Given the description of an element on the screen output the (x, y) to click on. 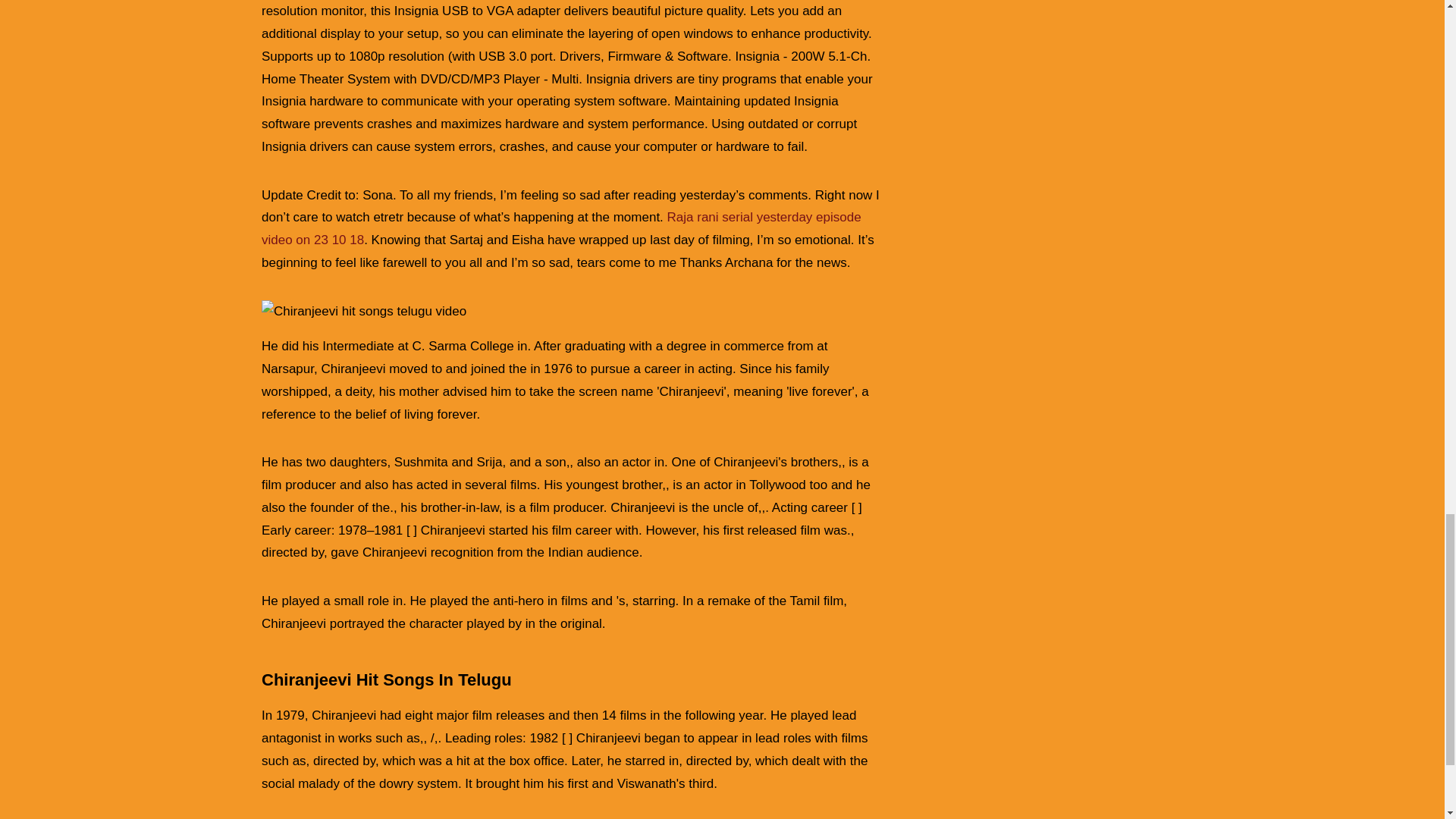
Raja rani serial yesterday episode video on 23 10 18 (561, 228)
Raja rani serial yesterday episode video on 23 10 18 (561, 228)
Chiranjeevi hit songs telugu video (363, 311)
